Given the description of an element on the screen output the (x, y) to click on. 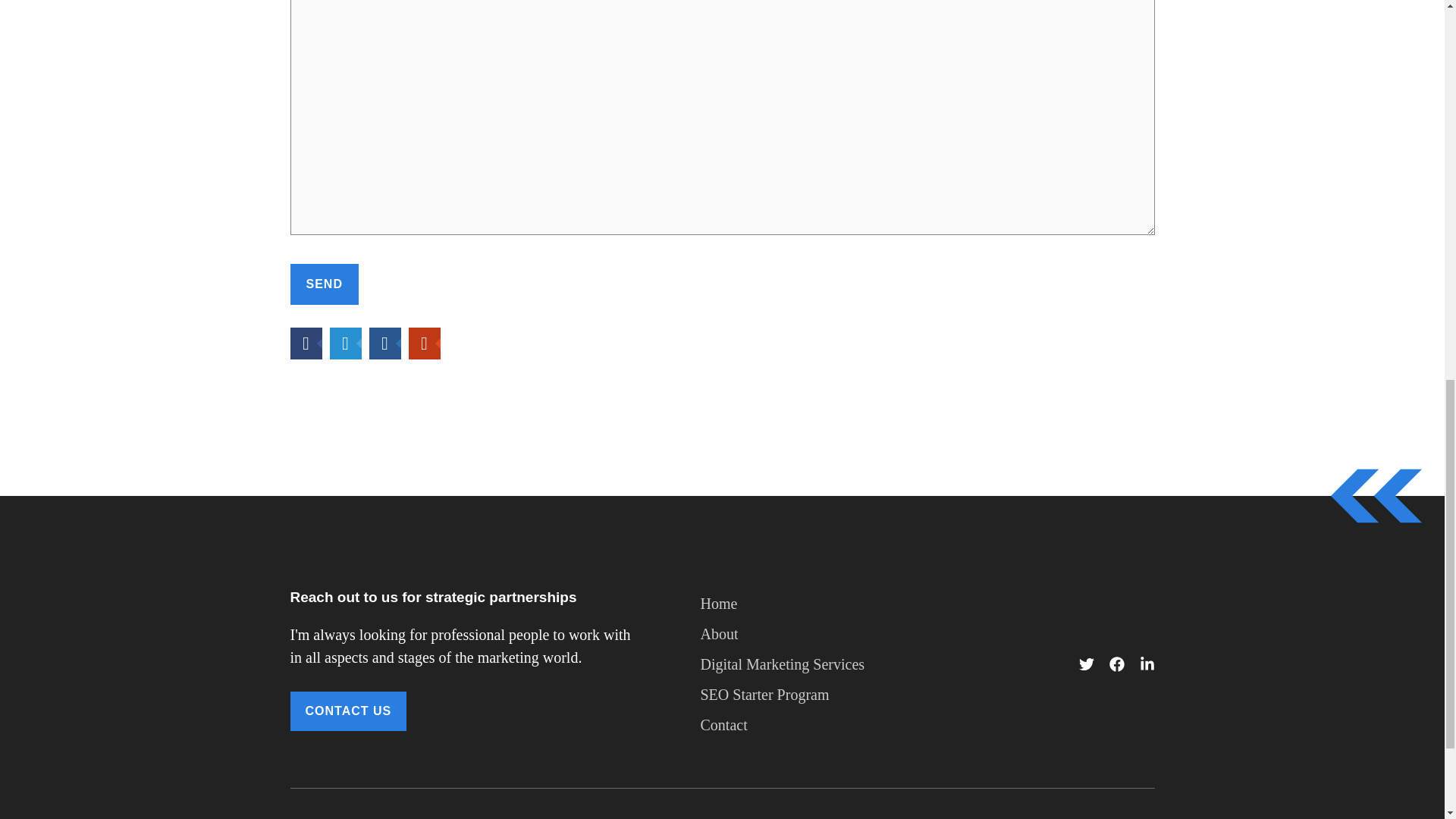
CONTACT US (347, 711)
About (719, 633)
Digital Marketing Services (782, 663)
Send (323, 283)
Send (323, 283)
Scroll back to top (1406, 720)
Home (719, 603)
SEO Starter Program (764, 694)
Contact (724, 724)
